Given the description of an element on the screen output the (x, y) to click on. 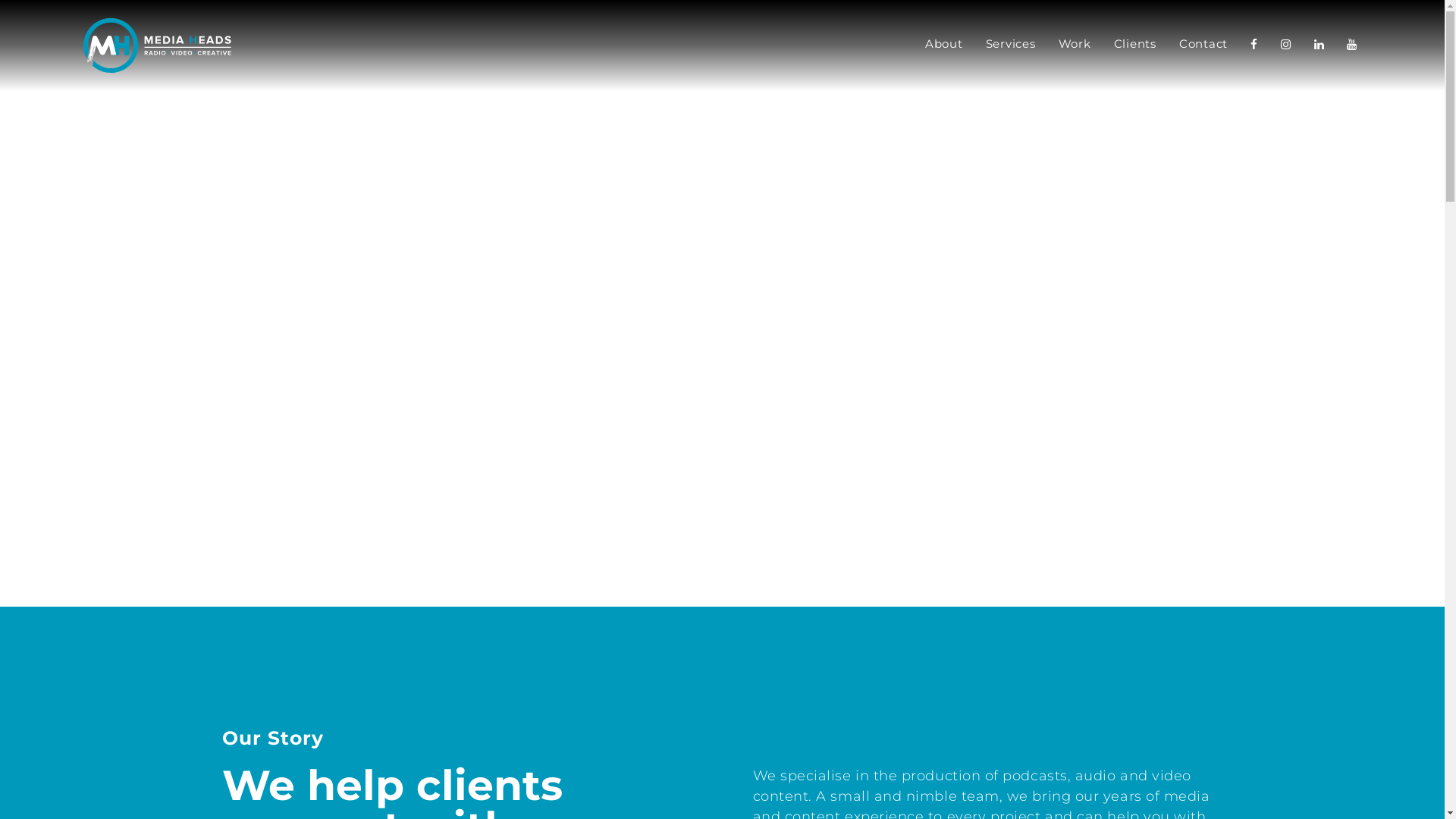
About Element type: text (943, 45)
Contact Element type: text (1203, 45)
Work Element type: text (1073, 45)
Clients Element type: text (1134, 45)
Services Element type: text (1009, 45)
